Given the description of an element on the screen output the (x, y) to click on. 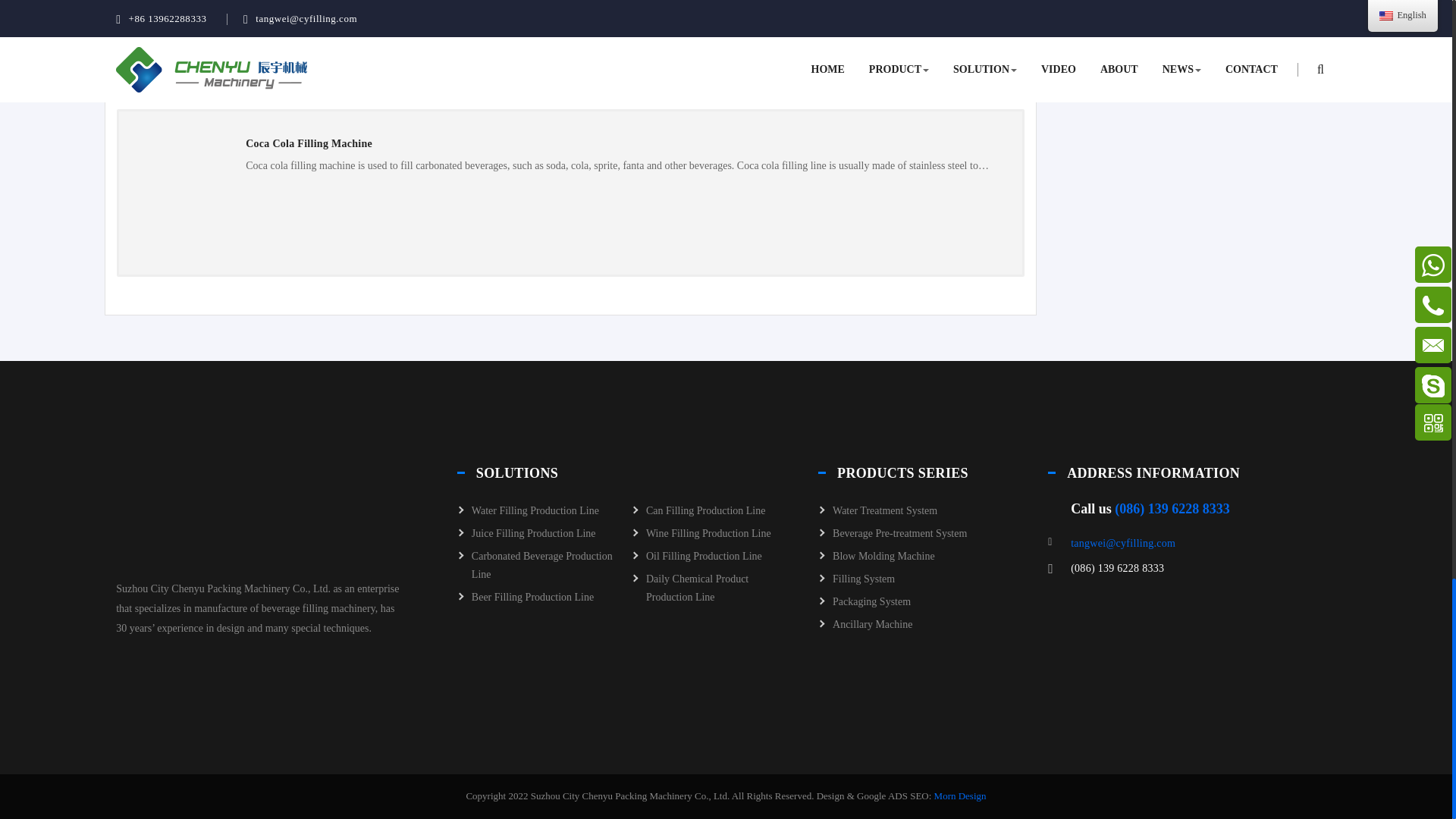
Drinking Water Filling Packing Machine (192, 30)
